Given the description of an element on the screen output the (x, y) to click on. 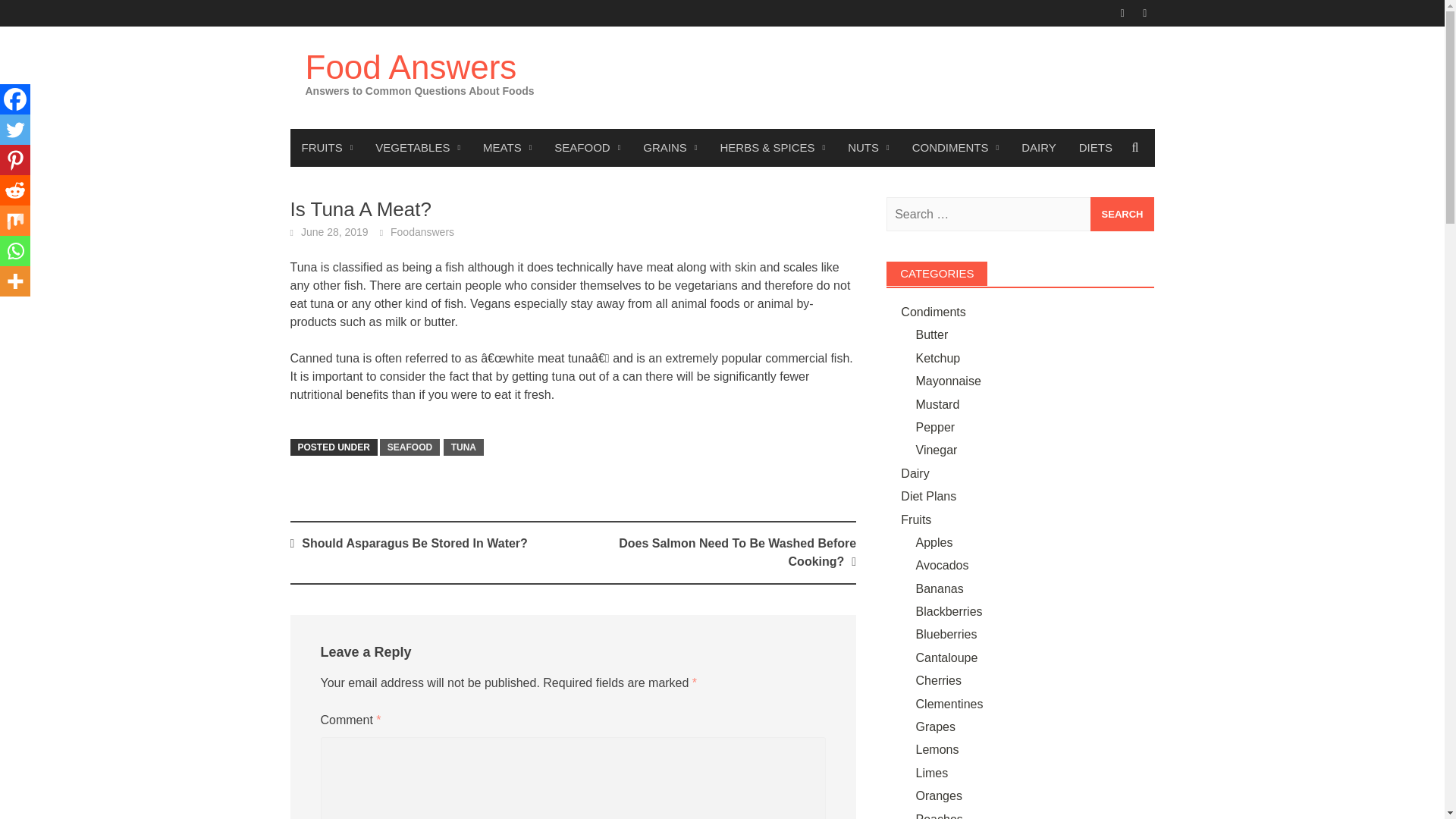
VEGETABLES (417, 147)
FRUITS (326, 147)
Search (1122, 213)
Facebook (15, 99)
Whatsapp (15, 250)
Search (1122, 213)
Pinterest (15, 159)
Mix (15, 220)
Food Answers (410, 66)
Twitter (15, 129)
